Given the description of an element on the screen output the (x, y) to click on. 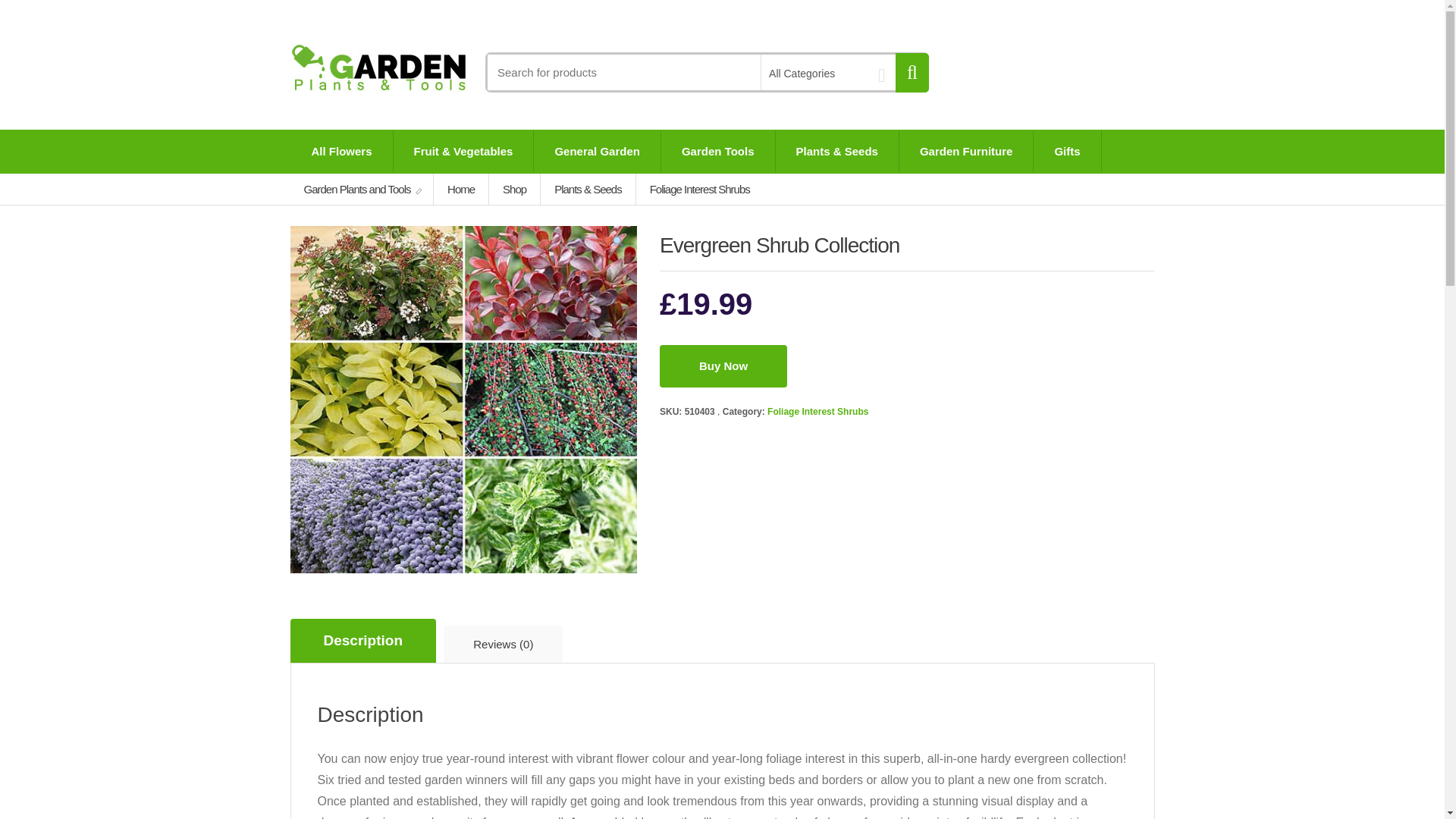
All Flowers (342, 151)
510403.jpg (463, 399)
Garden Plants and Tools (361, 188)
Gifts (1066, 151)
Garden Furniture (966, 151)
All Flowers (342, 151)
General Garden (597, 151)
Garden Tools (717, 151)
Garden Furniture (966, 151)
Gifts (1066, 151)
Garden Tools (717, 151)
General Garden (597, 151)
